Given the description of an element on the screen output the (x, y) to click on. 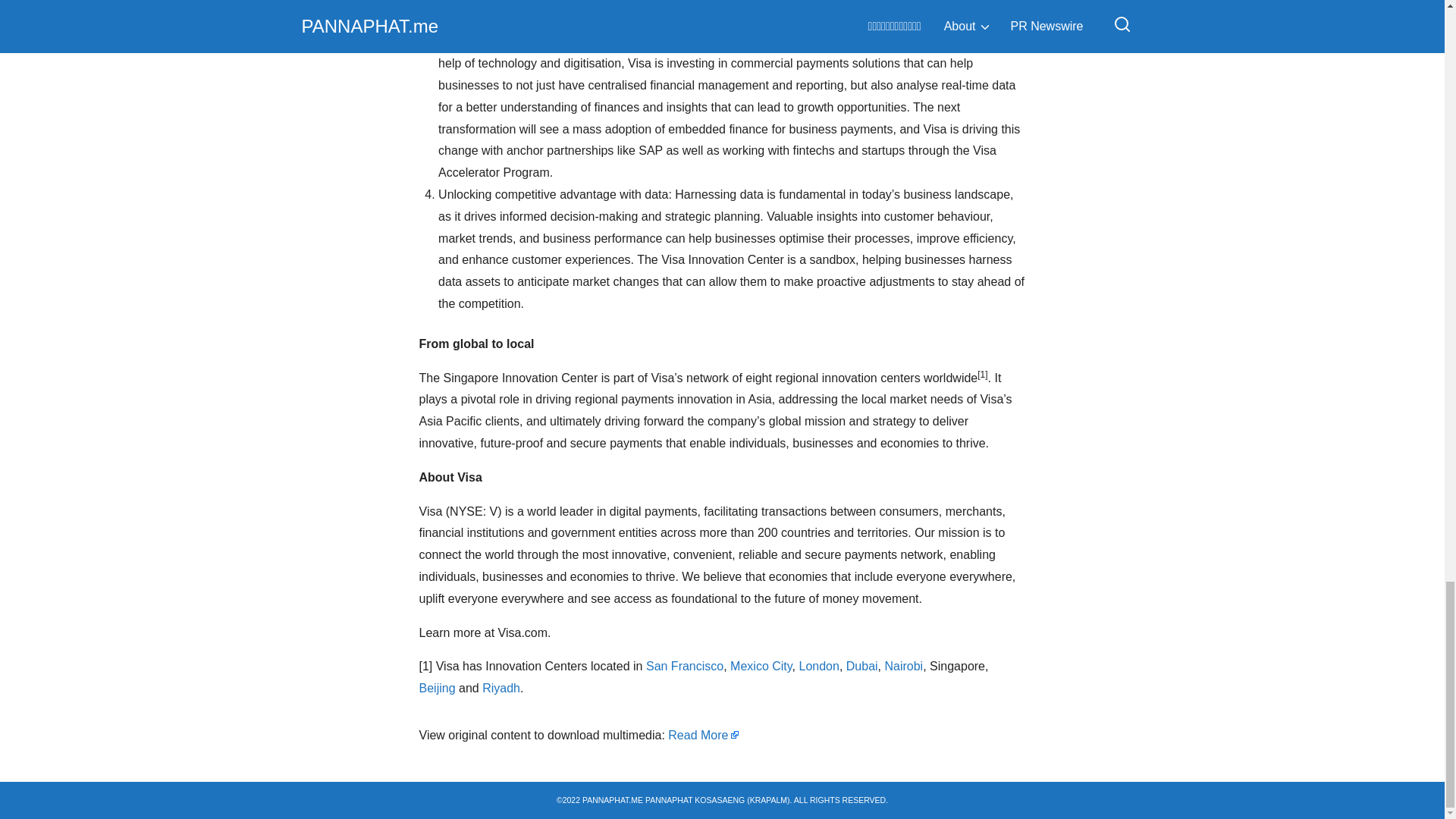
Riyadh (500, 687)
Read More (703, 735)
Dubai (861, 666)
San Francisco (684, 666)
Nairobi (903, 666)
Mexico City (761, 666)
London (819, 666)
Beijing (436, 687)
